Given the description of an element on the screen output the (x, y) to click on. 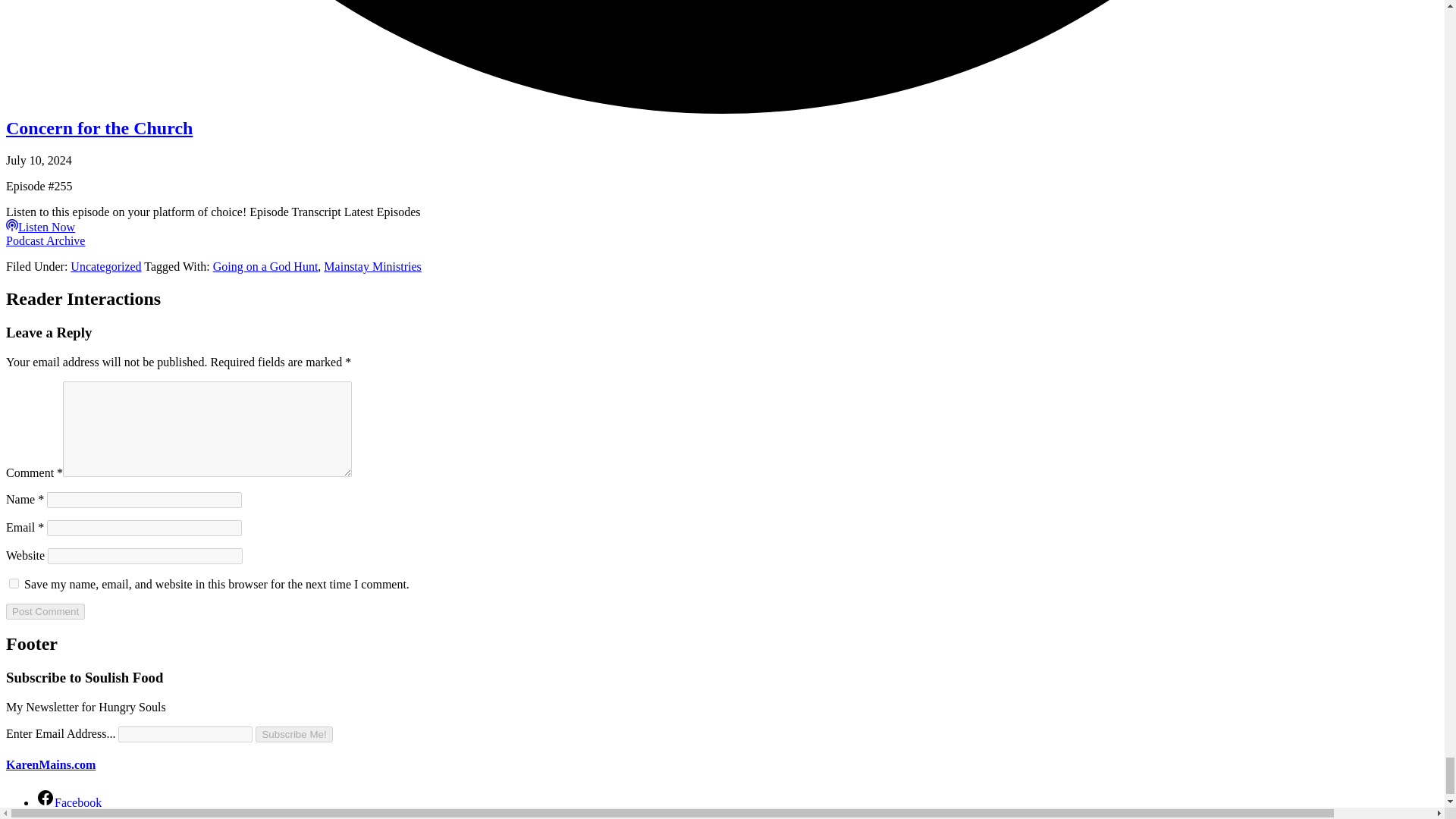
Mainstay Ministries (371, 266)
Subscribe Me! (293, 734)
Podcast Archive (44, 240)
Post Comment (44, 611)
Subscribe Me! (293, 734)
KarenMains.com (50, 764)
Karen Mains (50, 764)
Uncategorized (105, 266)
yes (13, 583)
Listen Now (40, 226)
Post Comment (44, 611)
Facebook (68, 802)
Going on a God Hunt (265, 266)
Concern for the Church (98, 127)
